Given the description of an element on the screen output the (x, y) to click on. 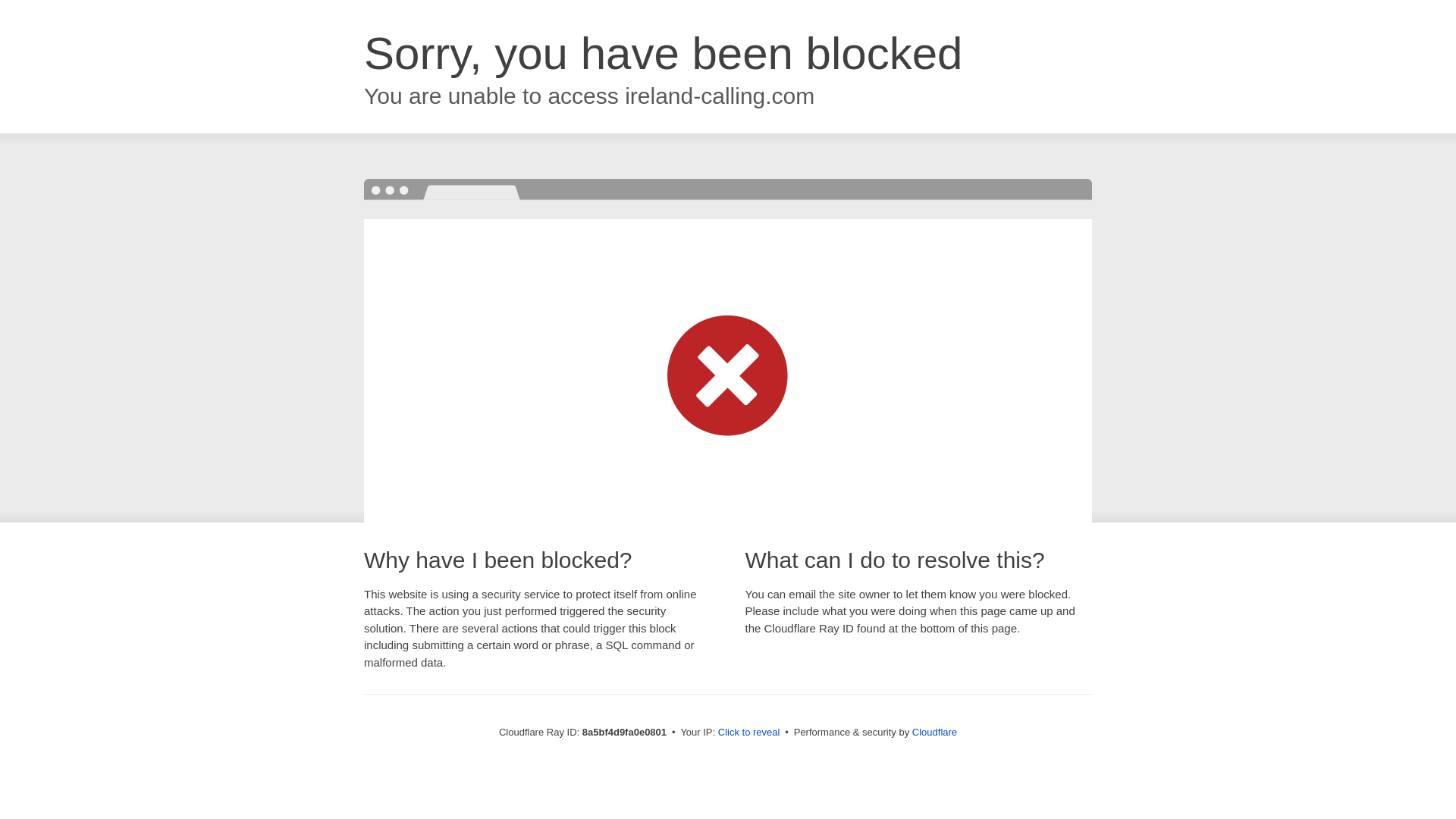
Click to reveal (748, 732)
Cloudflare (934, 731)
